Given the description of an element on the screen output the (x, y) to click on. 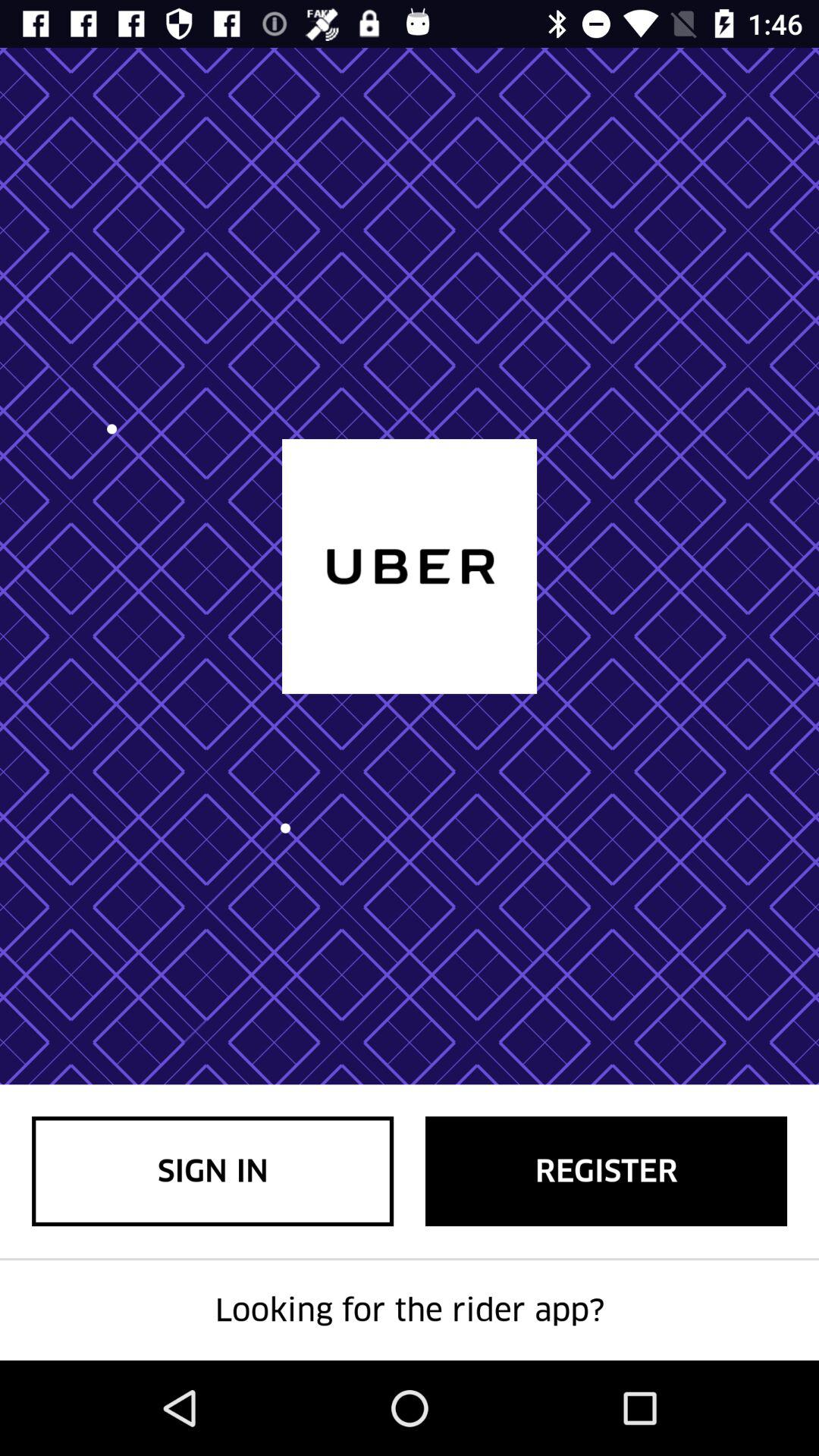
turn on the sign in (212, 1171)
